Given the description of an element on the screen output the (x, y) to click on. 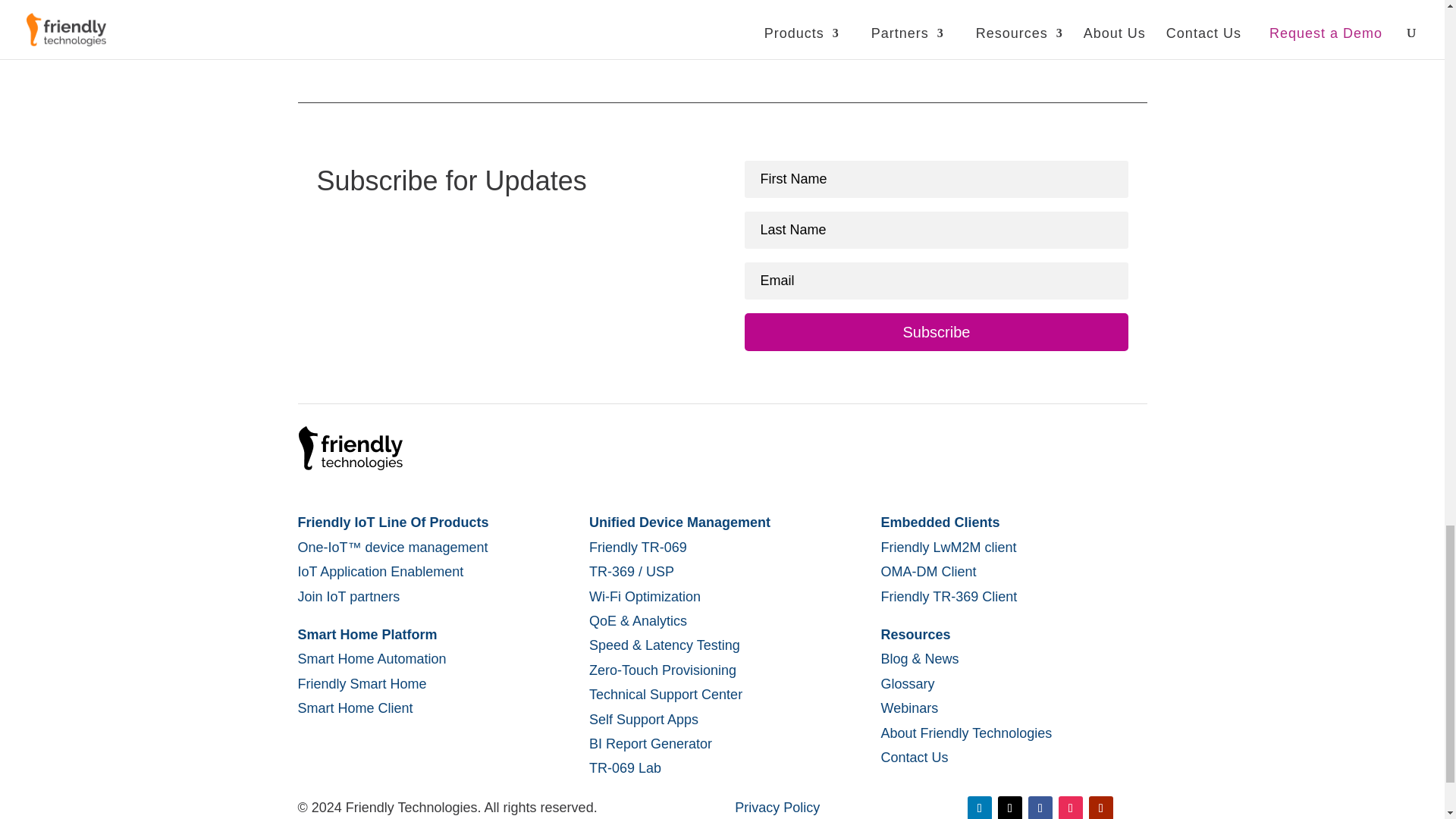
Follow on X (1009, 807)
Follow on LinkedIn (979, 807)
logo-bw (350, 447)
